Given the description of an element on the screen output the (x, y) to click on. 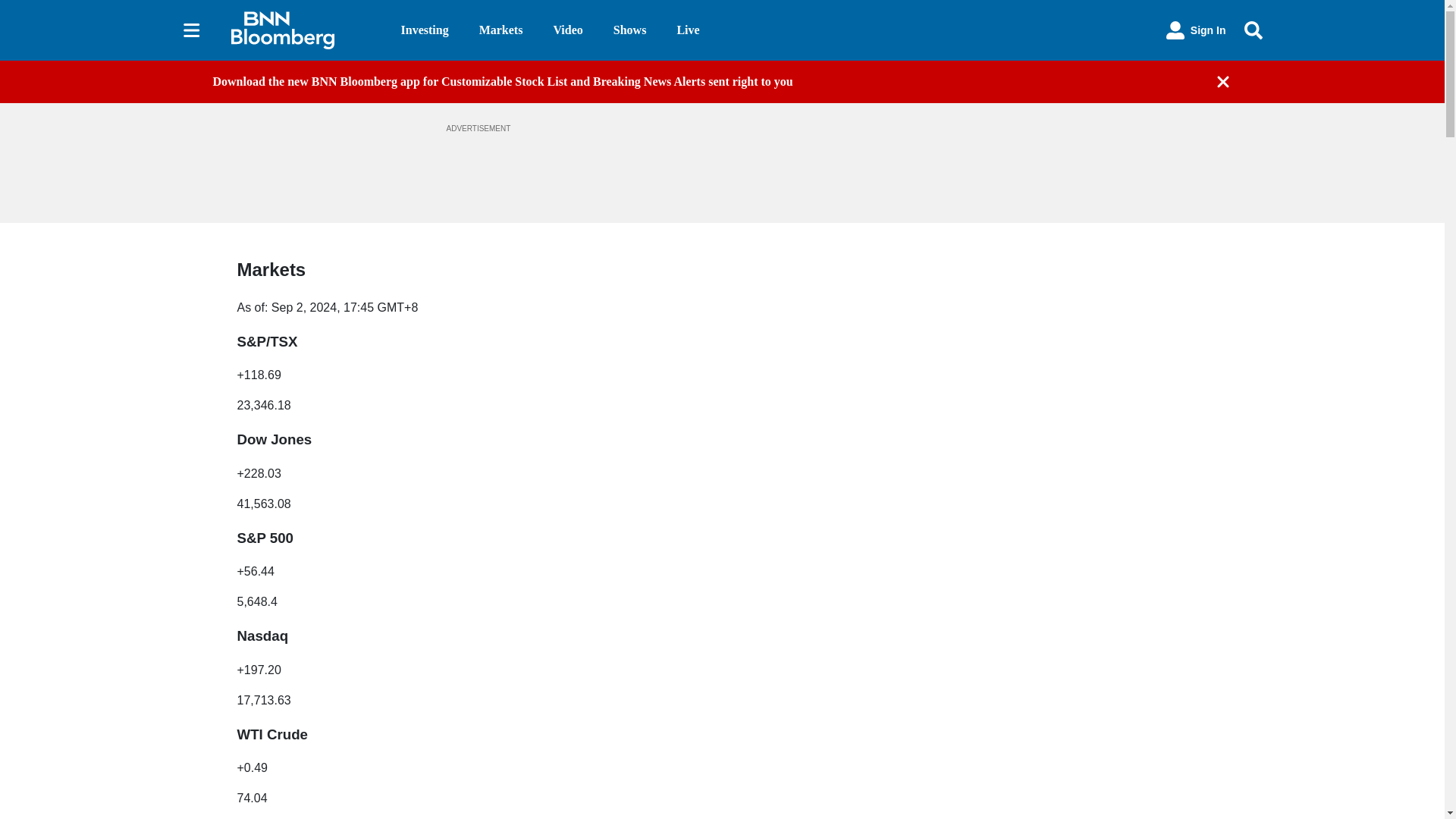
Sign In (1195, 30)
Investing (424, 30)
Markets (500, 30)
Shows (629, 30)
Video (567, 30)
BNN Bloomberg (302, 30)
Sections (191, 30)
Live (687, 30)
